Given the description of an element on the screen output the (x, y) to click on. 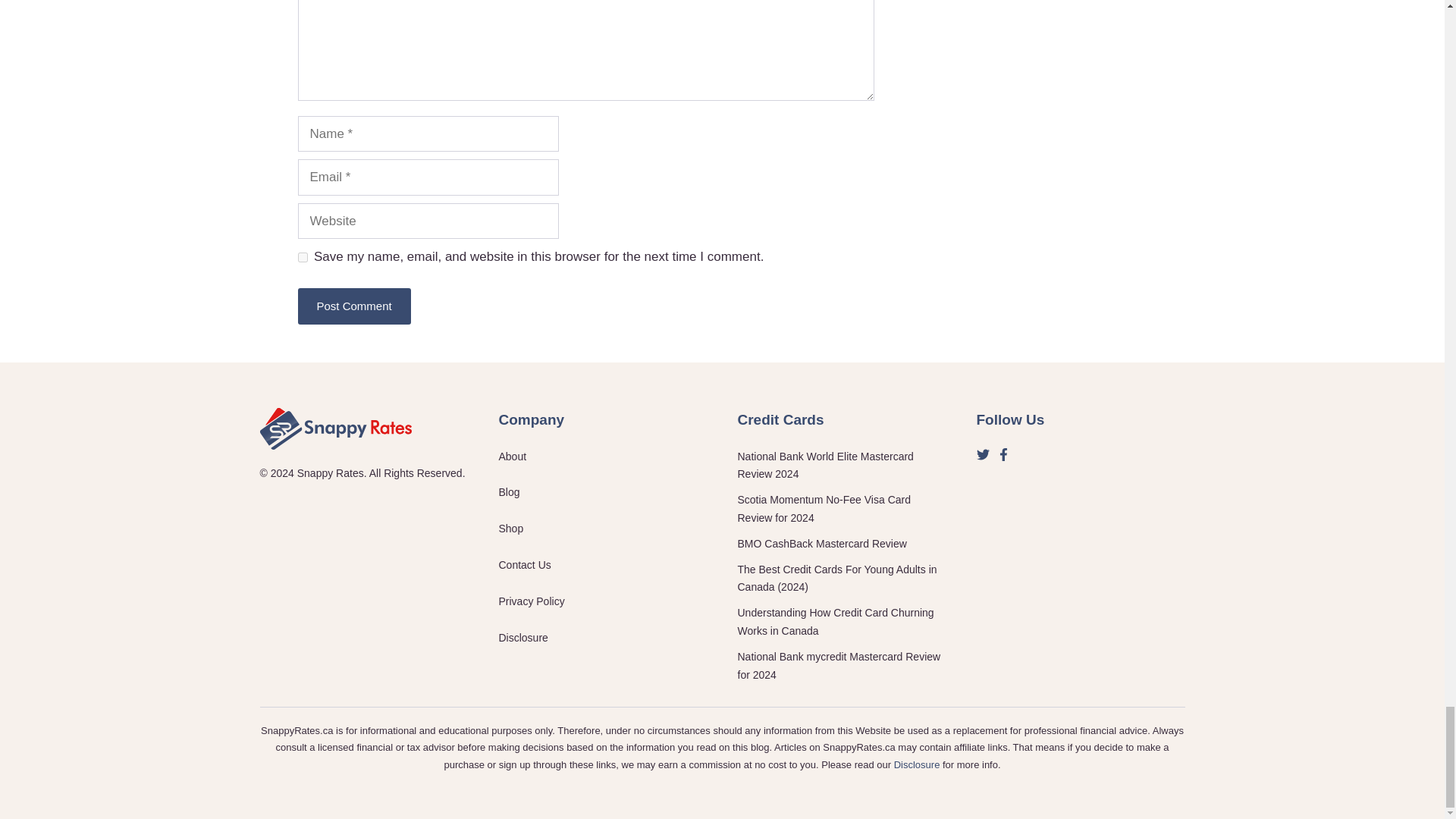
snappy rates logo (334, 428)
Post Comment (353, 306)
yes (302, 257)
